Given the description of an element on the screen output the (x, y) to click on. 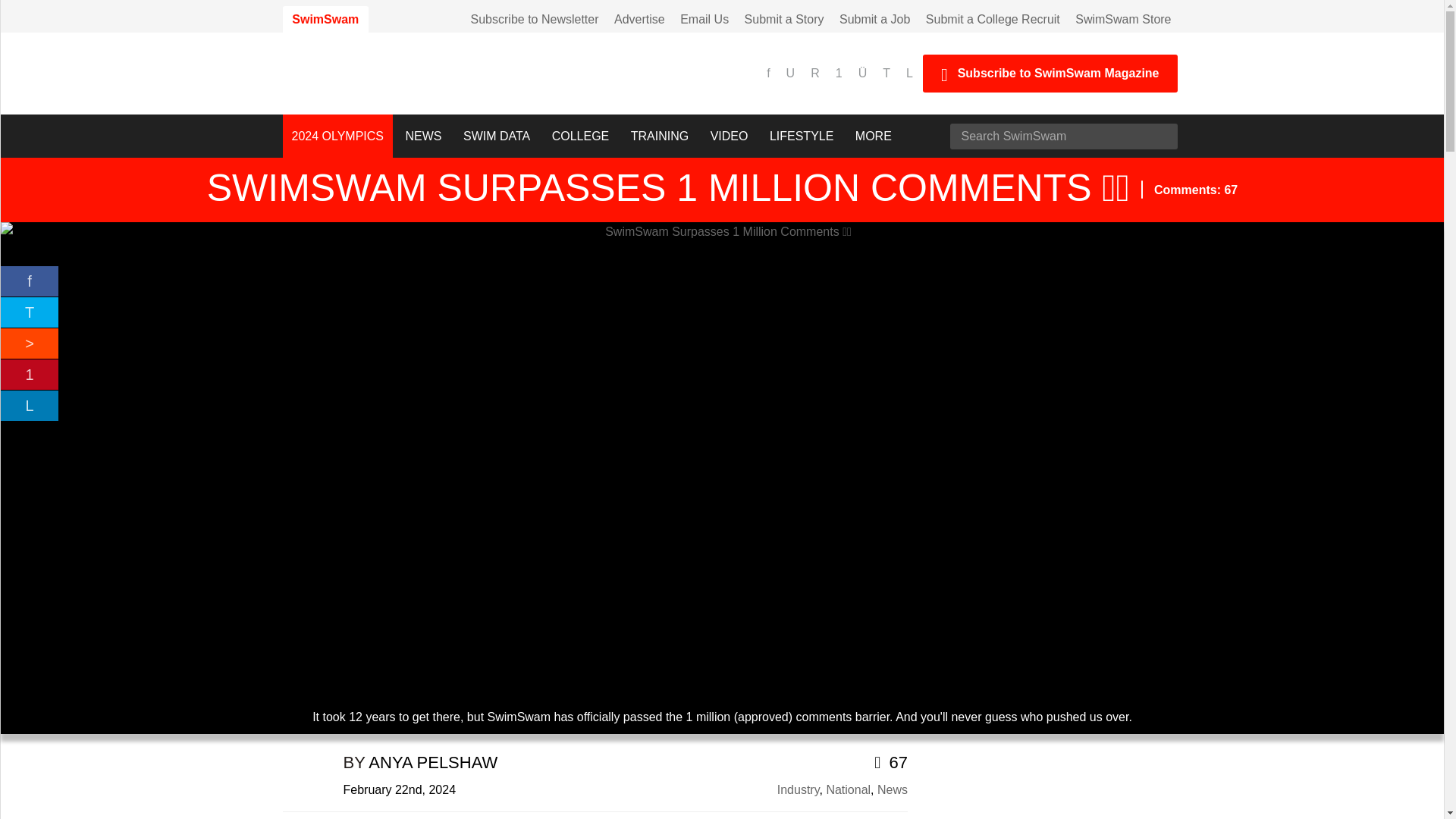
NEWS (422, 136)
Advertise (639, 18)
Search SwimSwam (1062, 136)
2024 OLYMPICS (337, 136)
Submit a College Recruit (992, 18)
SwimSwam Instagram (864, 72)
SwimSwam on Twitter (887, 72)
SwimSwam RSS Feed (817, 72)
Subscribe to SwimSwam Magazine (1050, 73)
SwimSwam on Pinterest (840, 72)
